Given the description of an element on the screen output the (x, y) to click on. 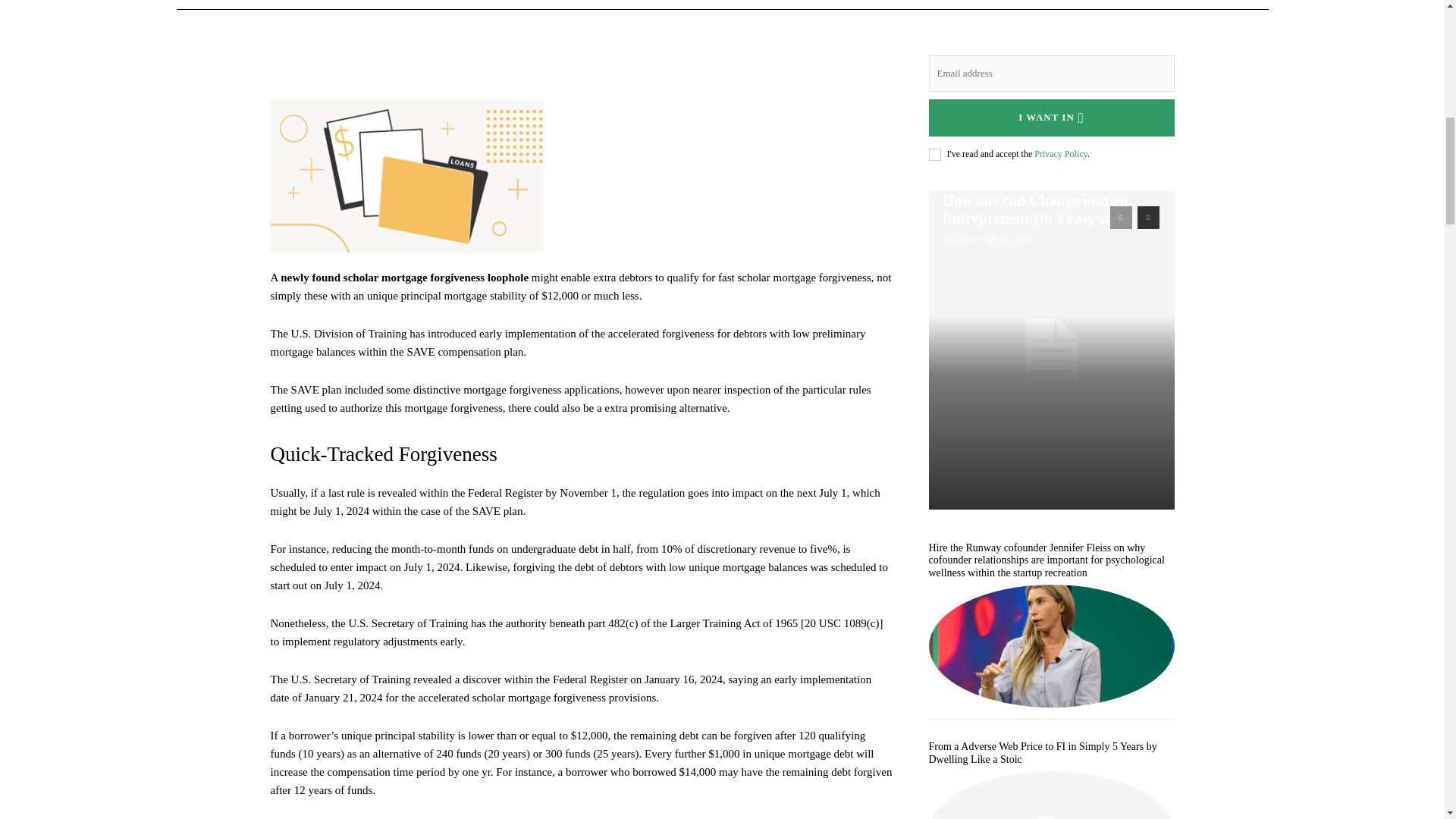
The End Of The Double-Consolidation Loophole (406, 176)
